Given the description of an element on the screen output the (x, y) to click on. 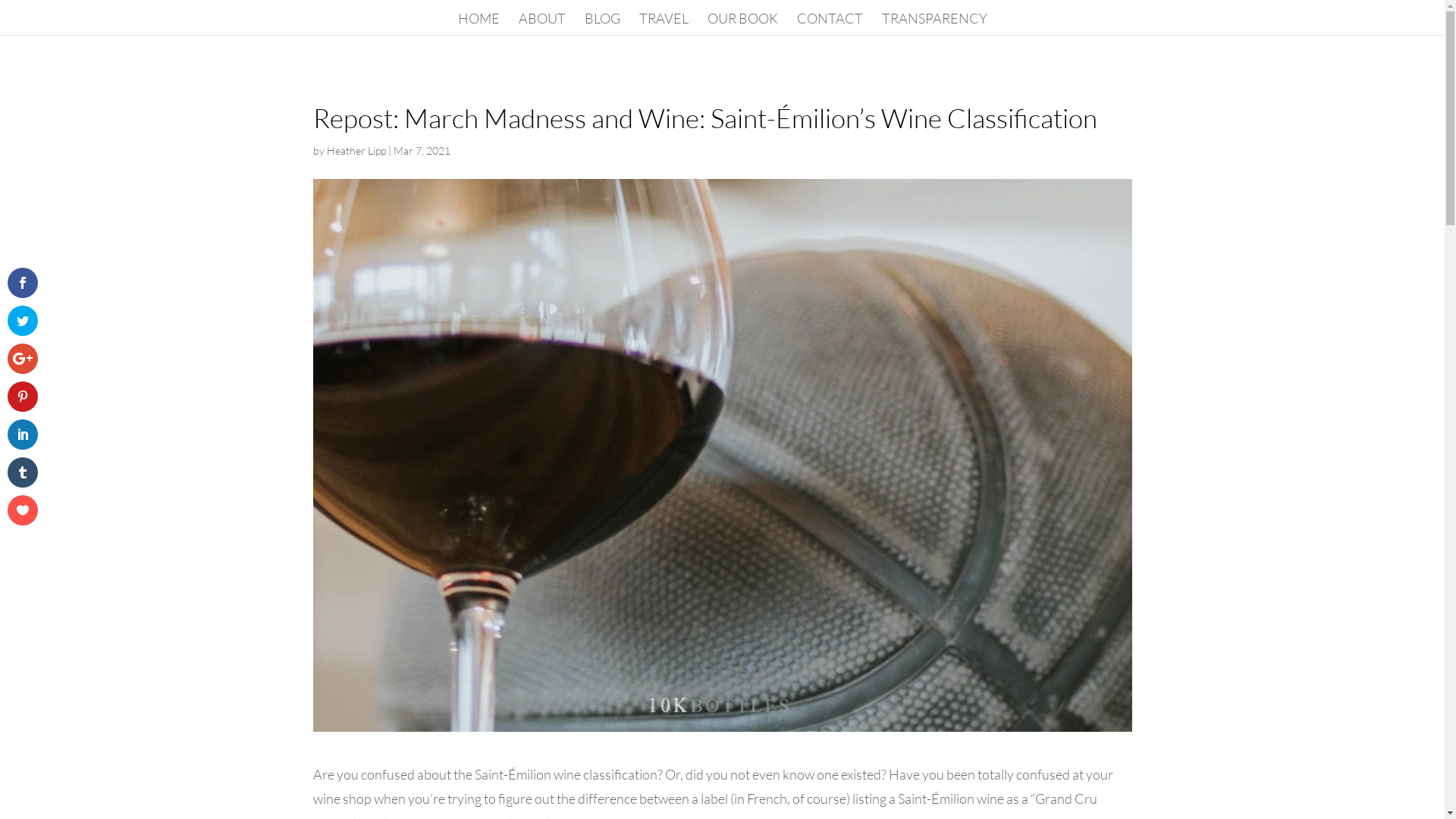
CONTACT Element type: text (829, 23)
ABOUT Element type: text (541, 23)
TRANSPARENCY Element type: text (933, 23)
TRAVEL Element type: text (662, 23)
BLOG Element type: text (601, 23)
OUR BOOK Element type: text (741, 23)
HOME Element type: text (478, 23)
Heather Lipp Element type: text (355, 150)
